Given the description of an element on the screen output the (x, y) to click on. 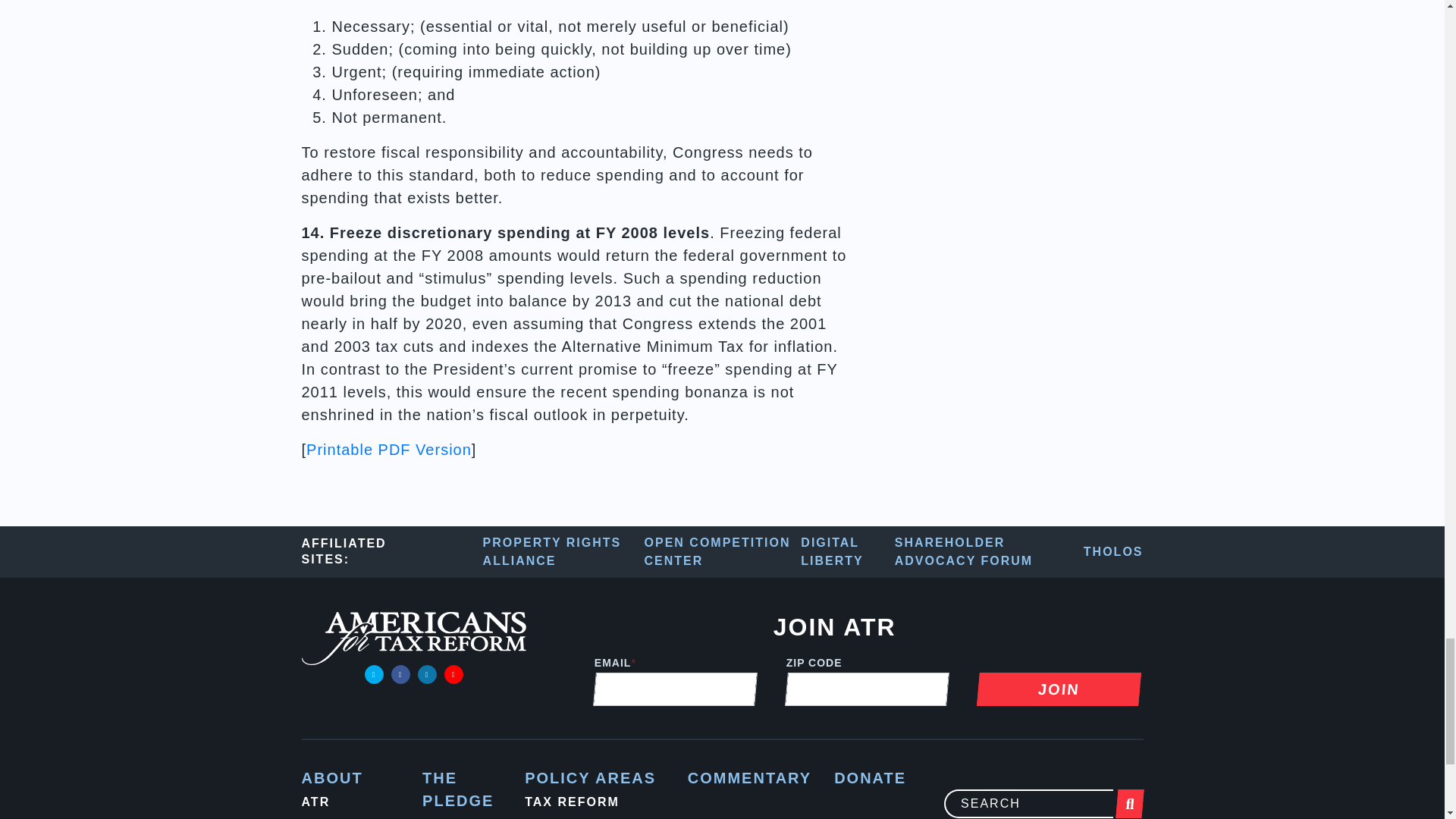
PROPERTY RIGHTS ALLIANCE (564, 551)
Printable PDF Version (388, 449)
DIGITAL LIBERTY (846, 551)
OPEN COMPETITION CENTER (723, 551)
Join (1057, 688)
